Given the description of an element on the screen output the (x, y) to click on. 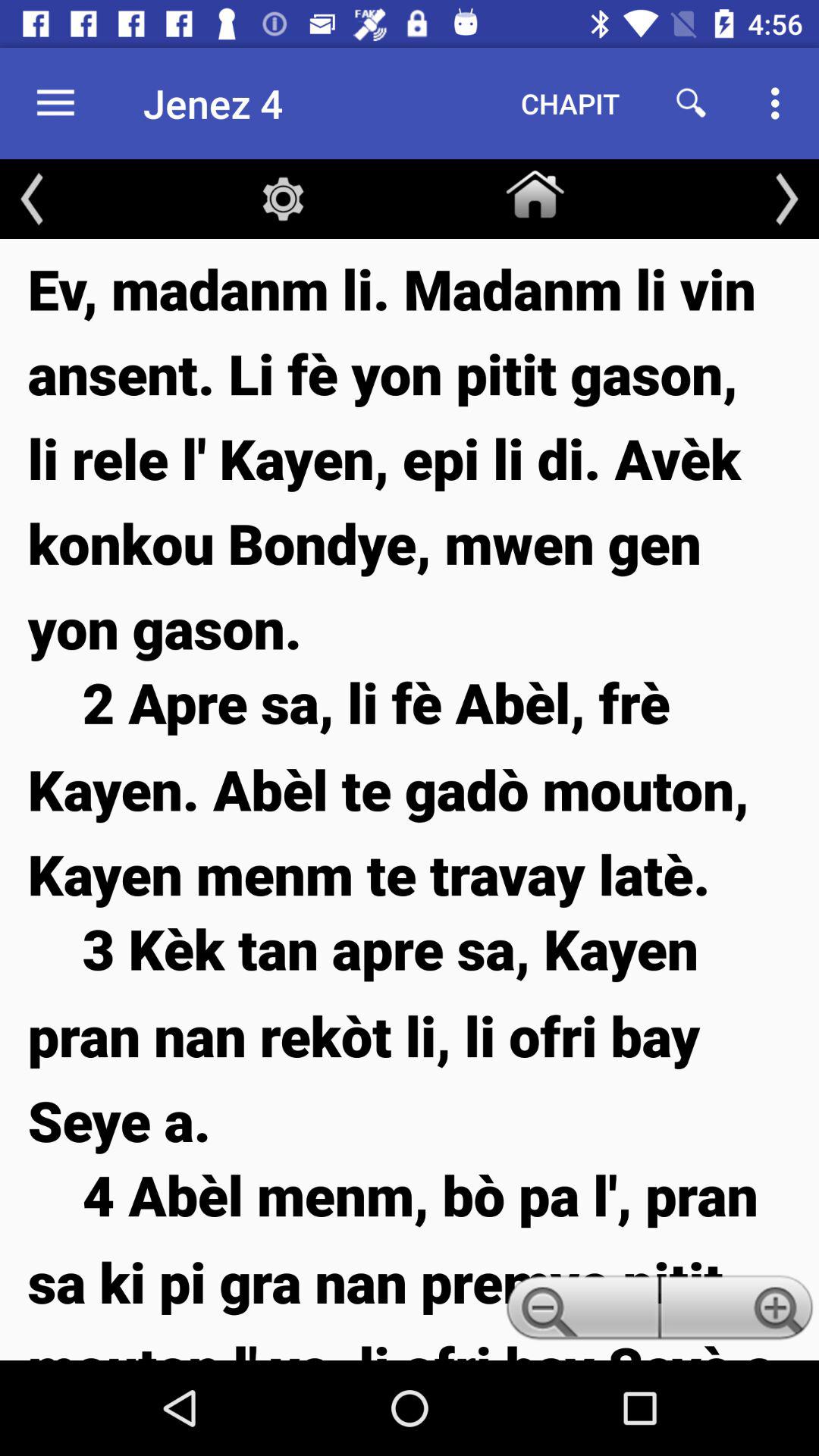
select the item below the chapit (535, 190)
